Given the description of an element on the screen output the (x, y) to click on. 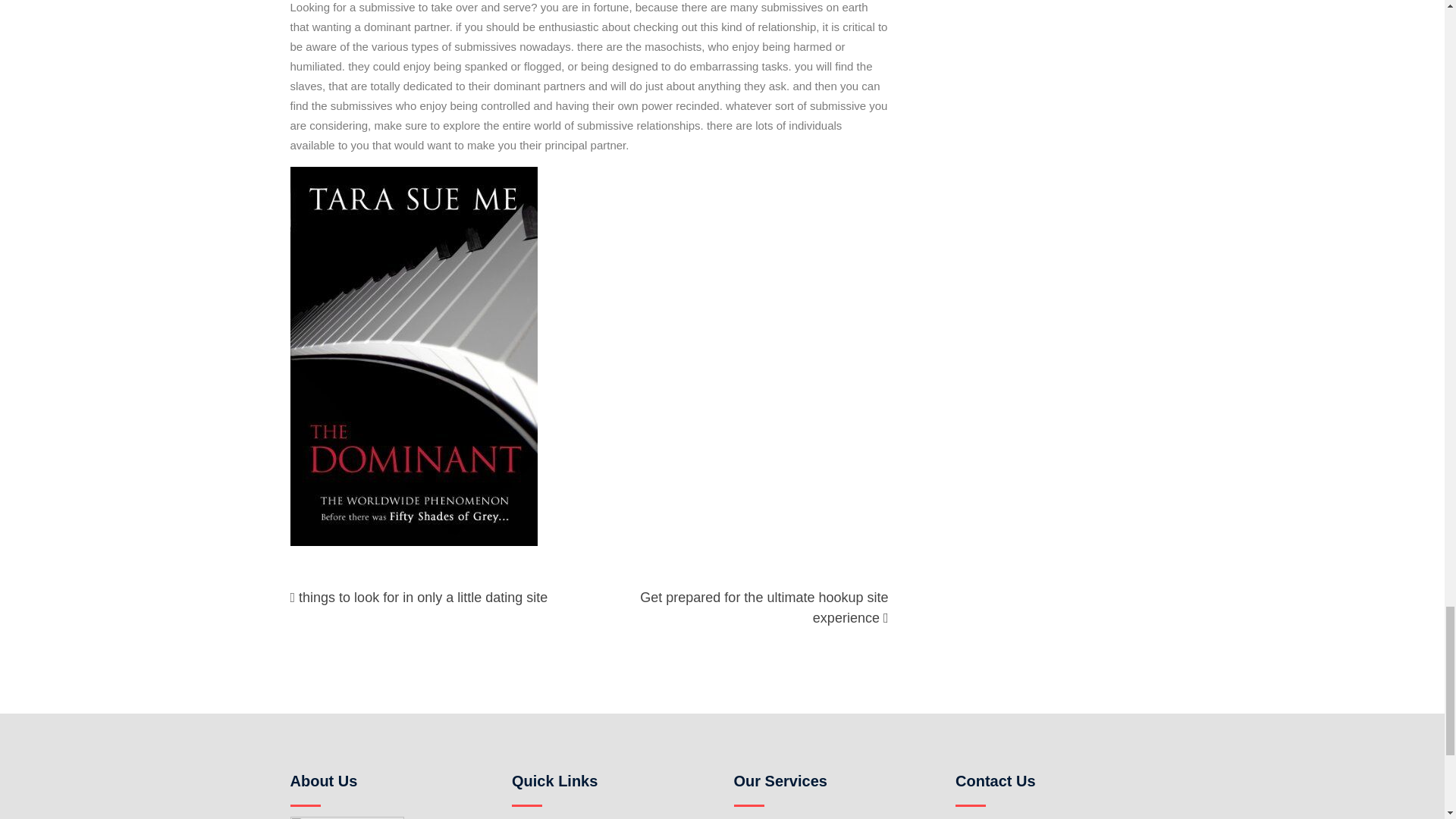
Get prepared for the ultimate hookup site experience (764, 607)
things to look for in only a little dating site (422, 597)
